Given the description of an element on the screen output the (x, y) to click on. 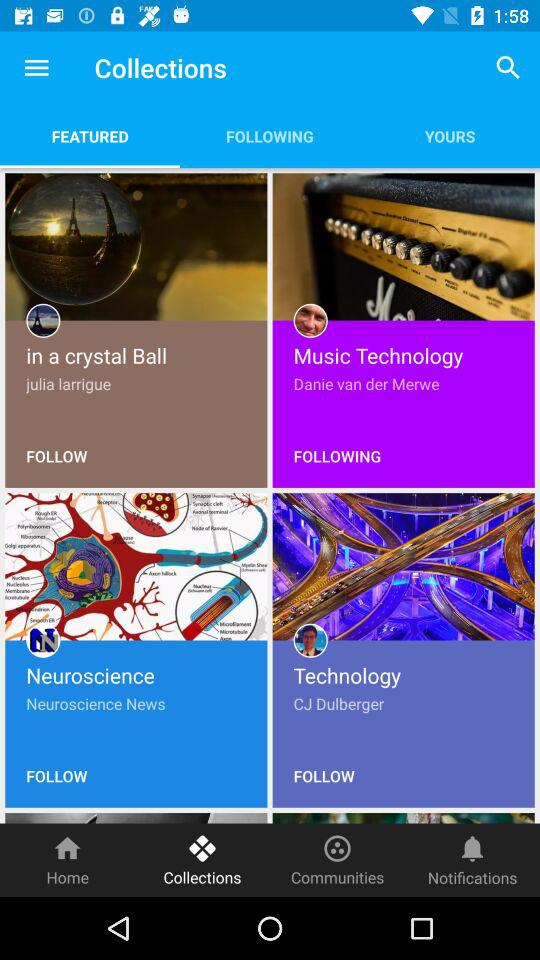
press the item next to following icon (508, 67)
